Given the description of an element on the screen output the (x, y) to click on. 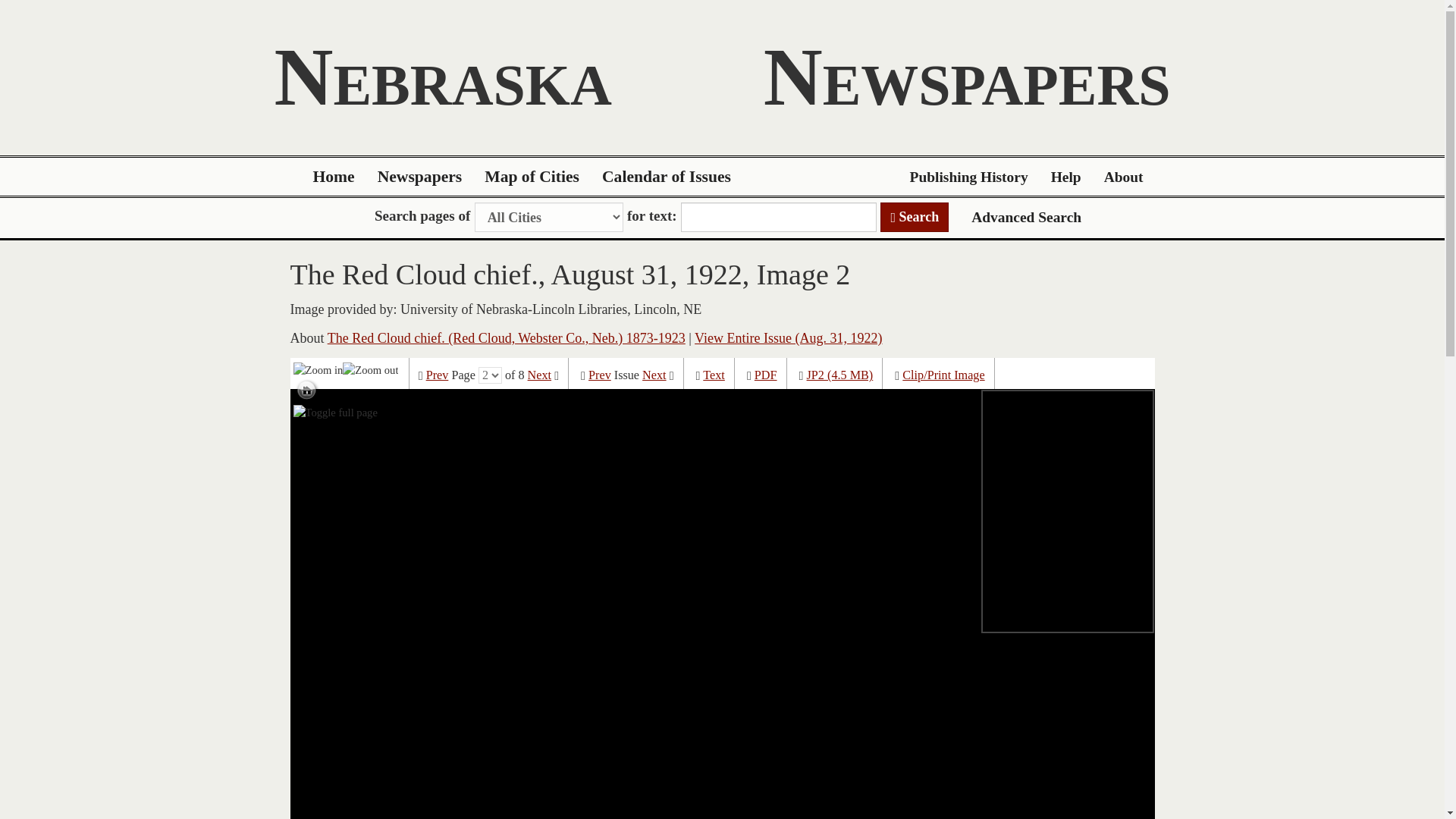
Publishing History (968, 176)
Go home (307, 391)
Help (1066, 176)
Zoom out (369, 369)
Home (333, 176)
Next (653, 375)
Toggle full page (335, 412)
About (1123, 176)
Newspapers (420, 176)
Prev (437, 375)
